Given the description of an element on the screen output the (x, y) to click on. 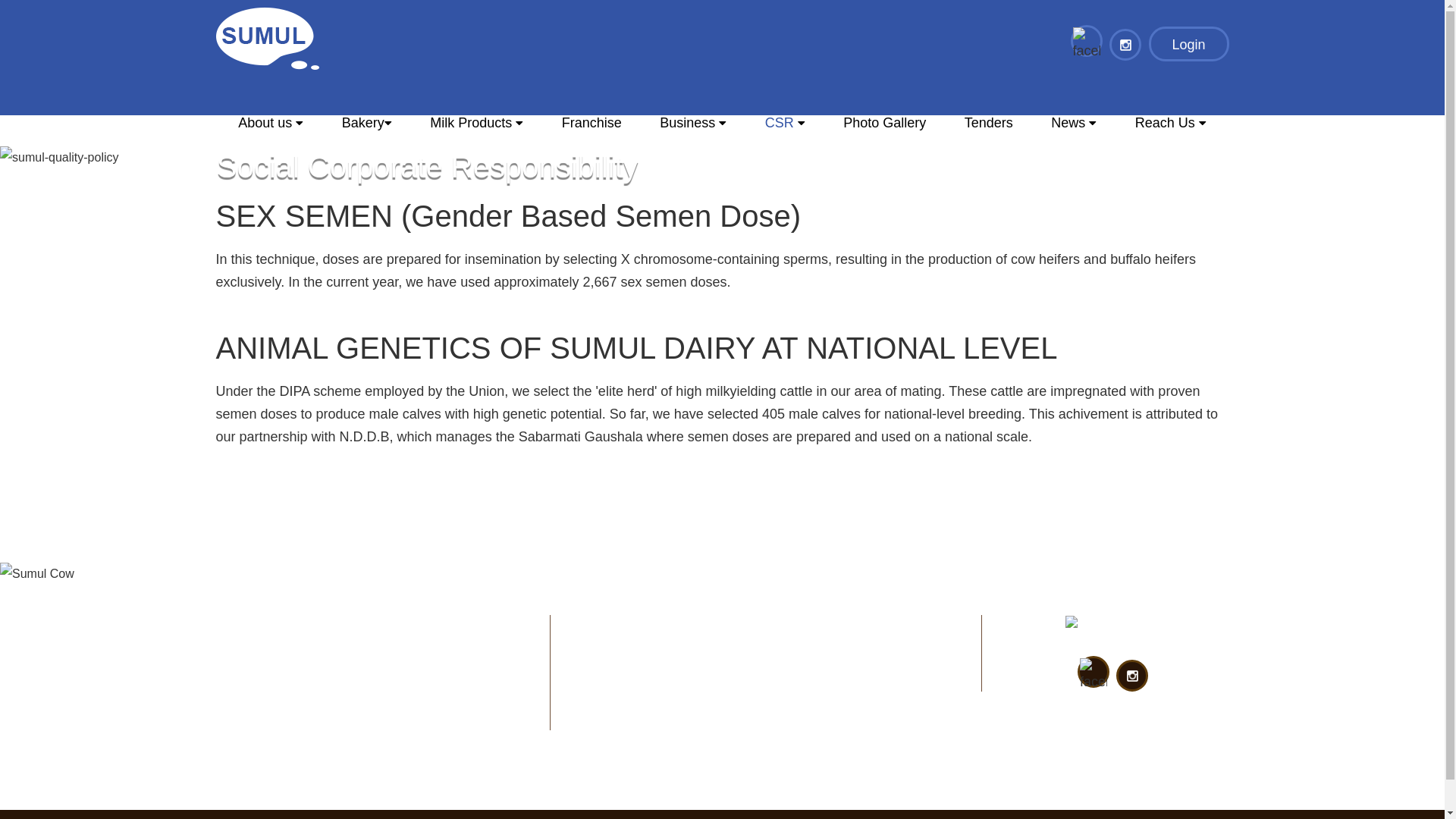
Bakery (366, 128)
facebook (1086, 44)
Sumul Brand (1110, 626)
About us (270, 128)
instagram (1131, 675)
Sumul Brand (266, 38)
instagram (1125, 44)
facebook (1093, 675)
Login (1188, 43)
sumul-quality-policy (59, 157)
